Given the description of an element on the screen output the (x, y) to click on. 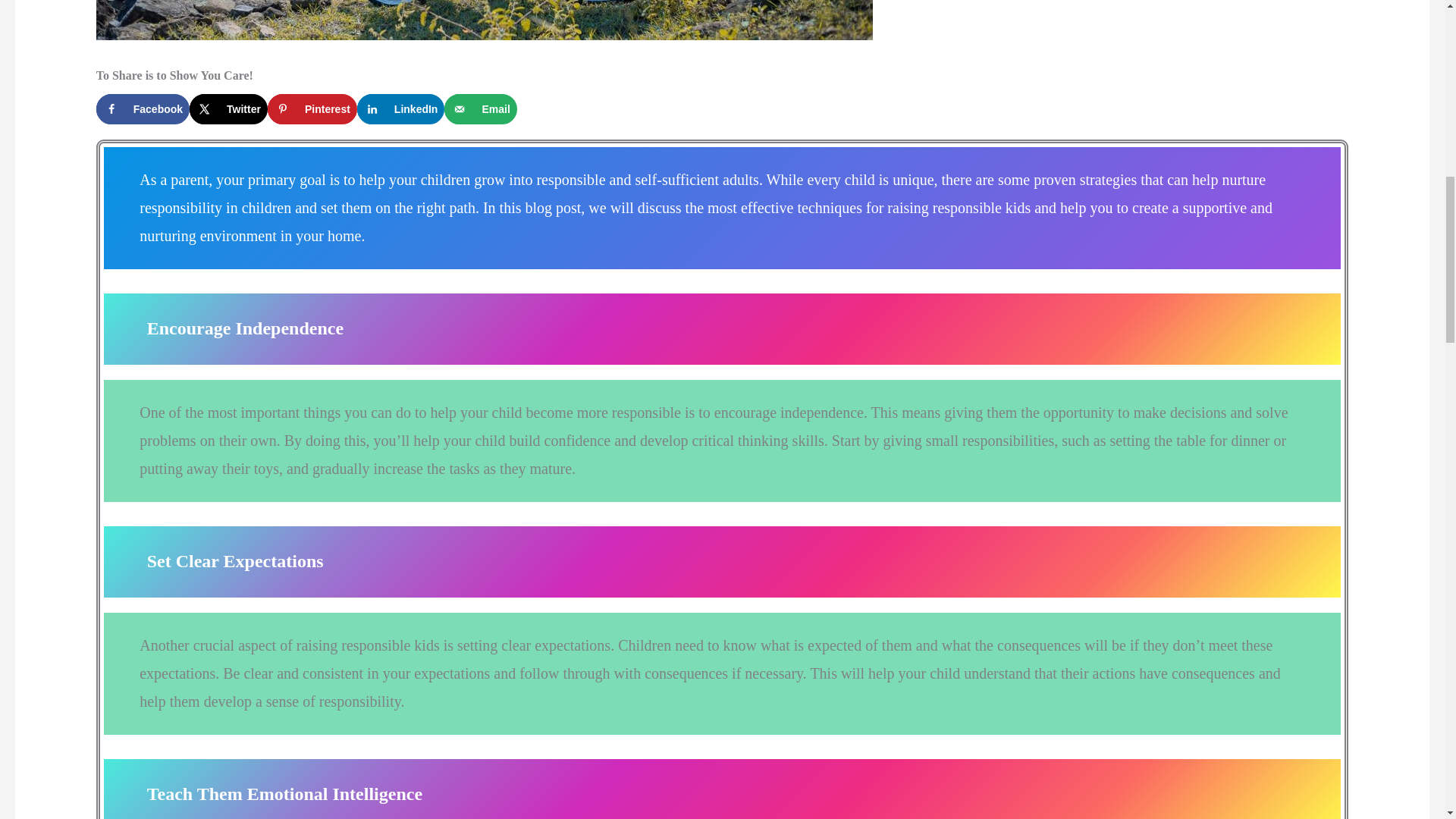
Save to Pinterest (311, 109)
Share on X (228, 109)
Facebook (142, 109)
Email (480, 109)
Send over email (480, 109)
Share on LinkedIn (400, 109)
Pinterest (311, 109)
Twitter (228, 109)
LinkedIn (400, 109)
Share on Facebook (142, 109)
